Given the description of an element on the screen output the (x, y) to click on. 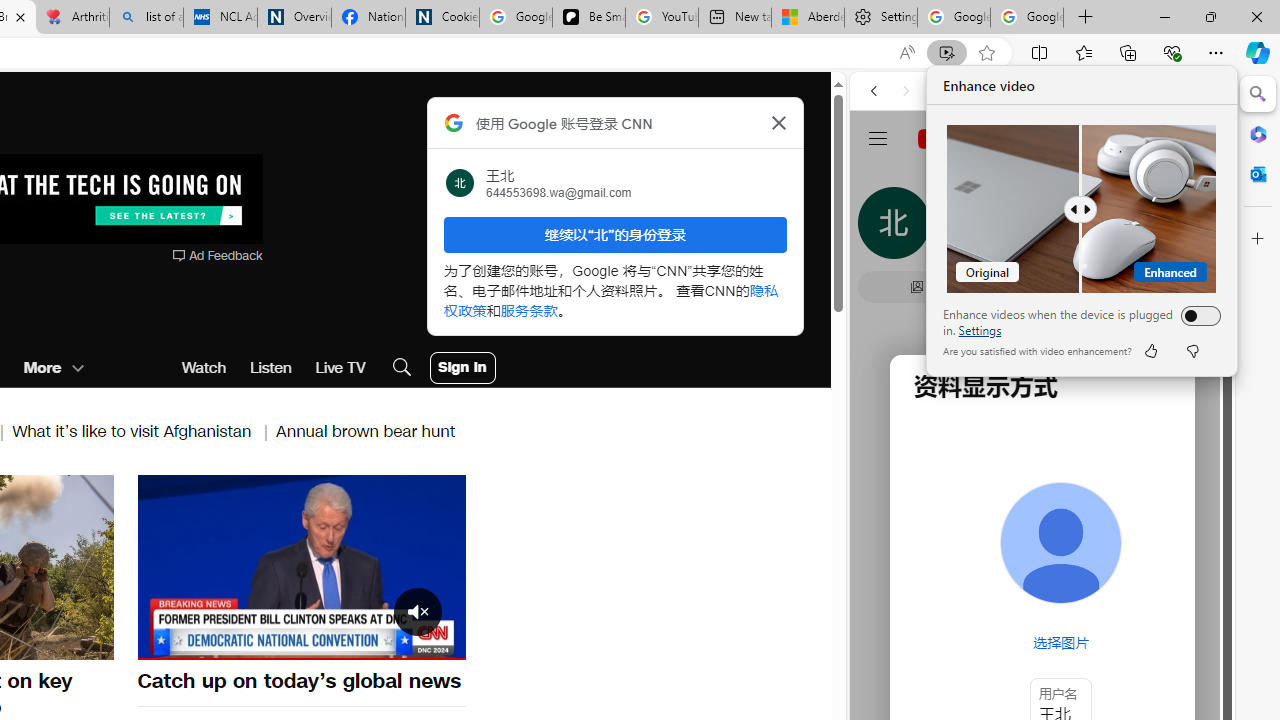
WEB   (882, 228)
Pause (301, 564)
Search Icon (401, 367)
Enhance videos (1196, 316)
Fullscreen (438, 642)
Music (1042, 543)
Pause (301, 567)
